Given the description of an element on the screen output the (x, y) to click on. 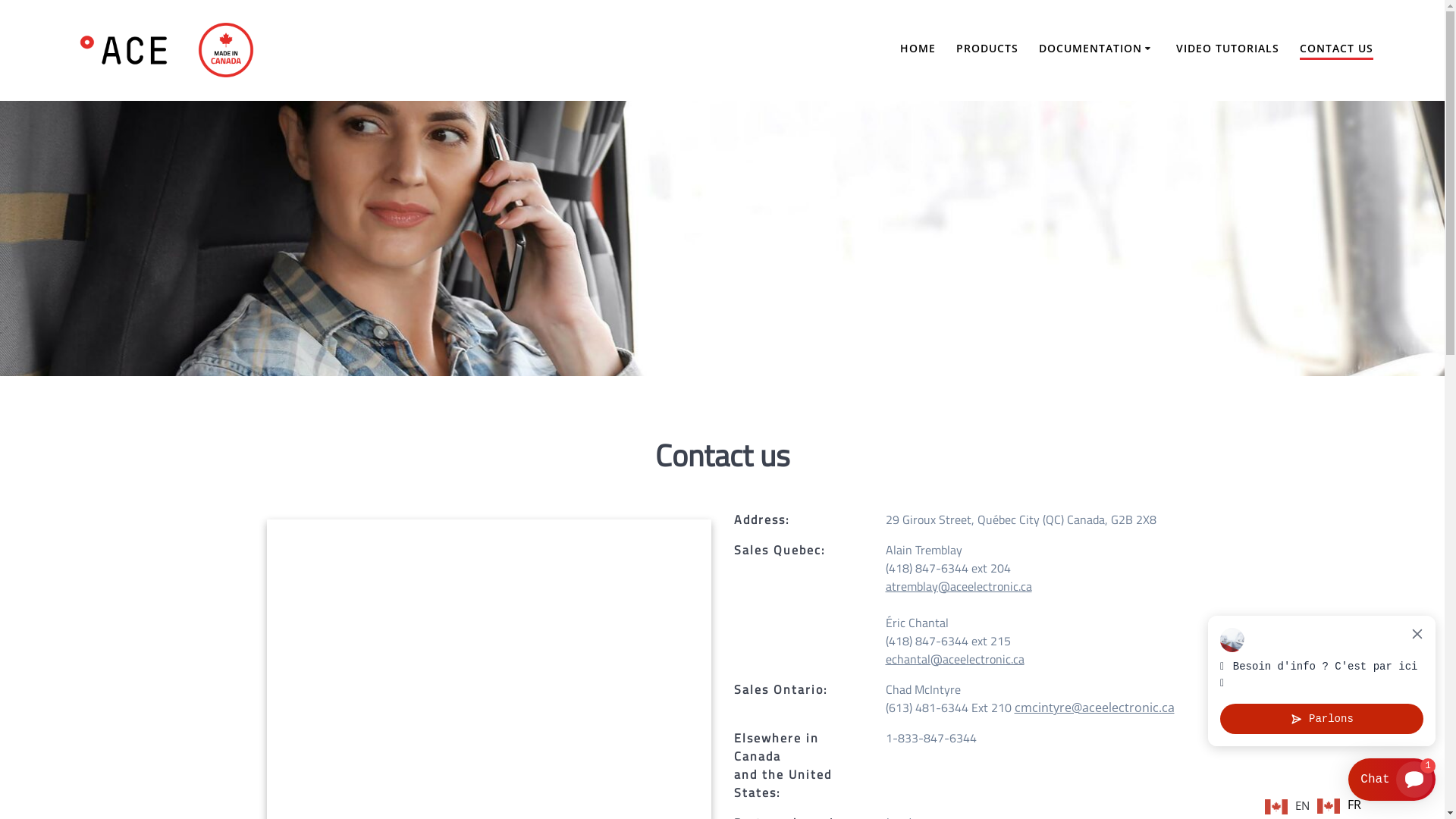
Smartsupp widget popup Element type: hover (1321, 680)
atremblay@aceelectronic.ca Element type: text (958, 586)
FR Element type: text (1338, 804)
DOCUMENTATION Element type: text (1096, 49)
PRODUCTS Element type: text (987, 49)
Skip to content Element type: text (0, 0)
CONTACT US Element type: text (1336, 49)
Smartsupp widget button Element type: hover (1391, 779)
echantal@aceelectronic.ca Element type: text (954, 658)
cmcintyre@aceelectronic.ca Element type: text (1094, 707)
VIDEO TUTORIALS Element type: text (1227, 49)
HOME Element type: text (917, 49)
